Given the description of an element on the screen output the (x, y) to click on. 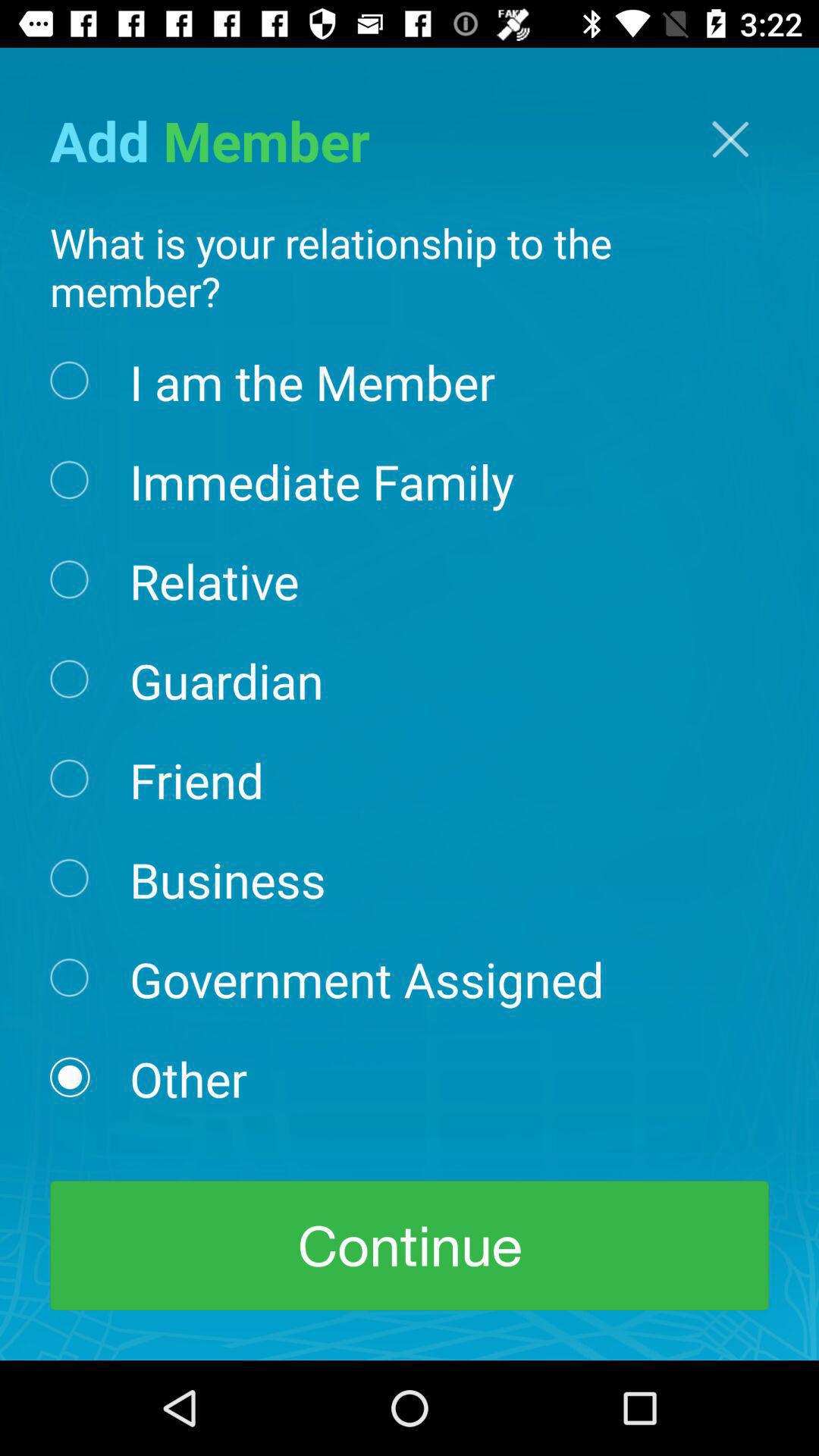
swipe to the relative icon (214, 579)
